Given the description of an element on the screen output the (x, y) to click on. 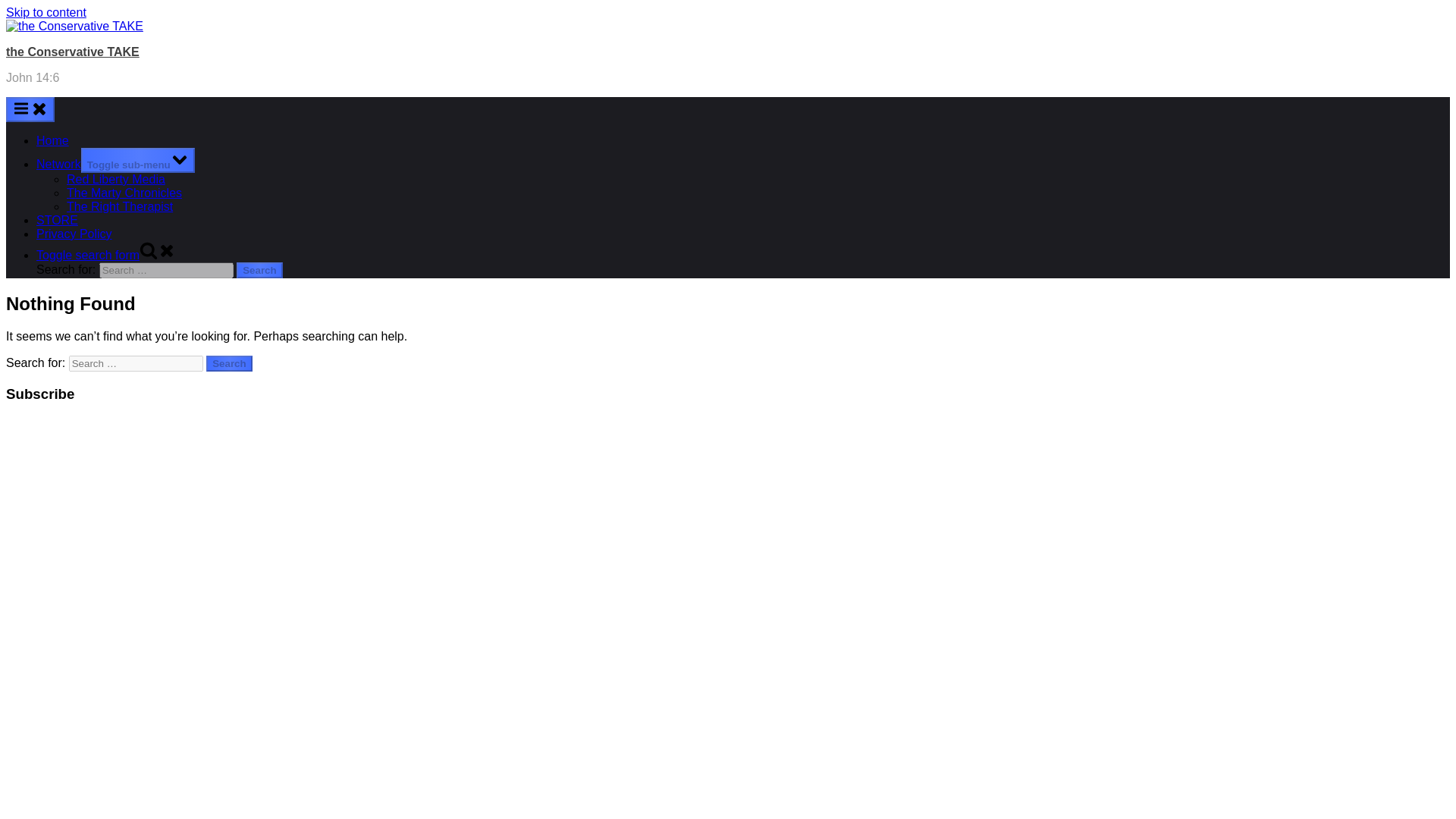
Home (52, 140)
The Right Therapist (119, 205)
Search (258, 270)
Red Liberty Media (115, 178)
Search (228, 363)
Search (228, 363)
Search (258, 270)
Search (258, 270)
The Marty Chronicles (124, 192)
STORE (57, 219)
